Given the description of an element on the screen output the (x, y) to click on. 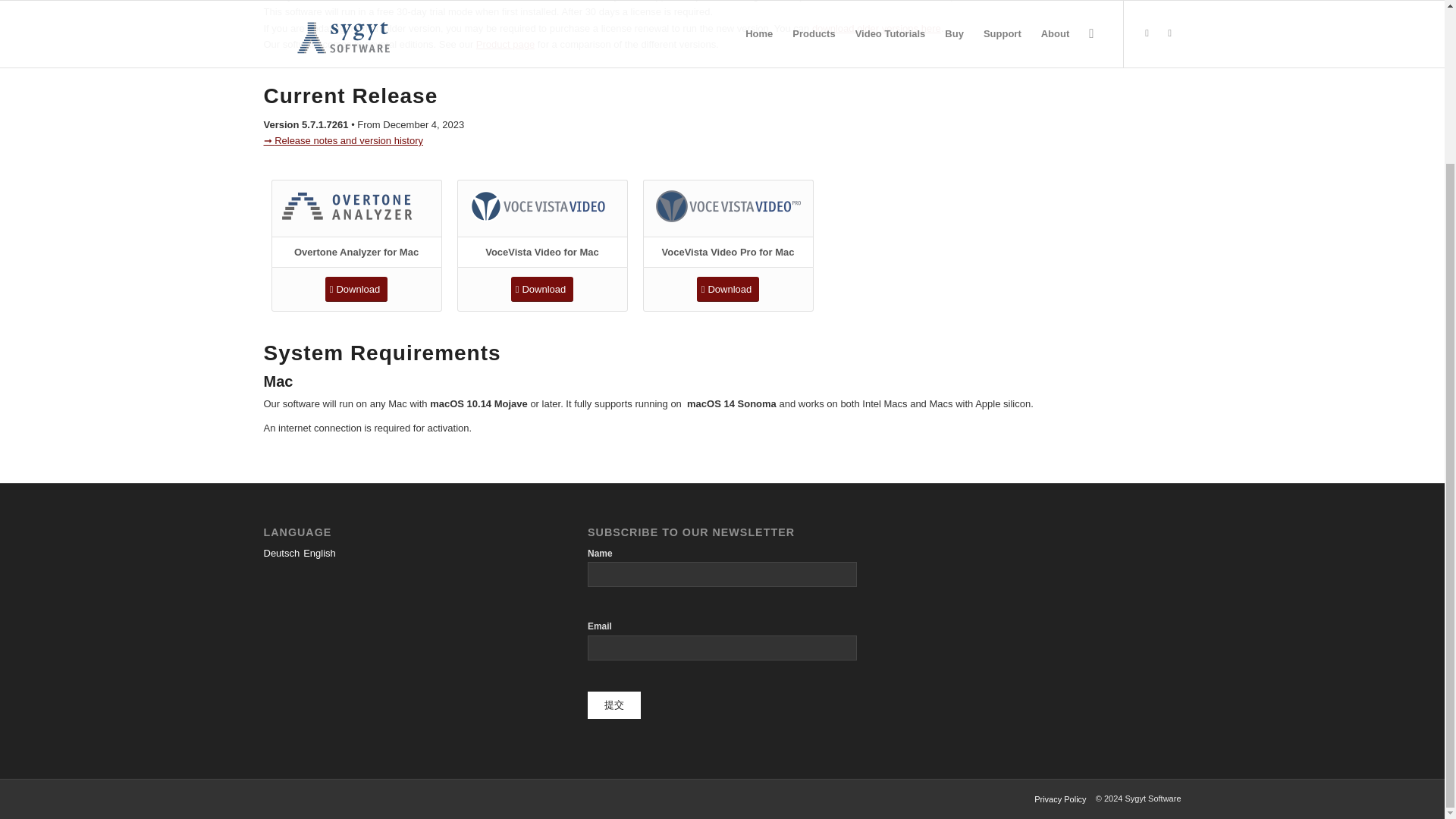
Download (356, 289)
Overtone Analyzer (355, 206)
Download (542, 289)
Download (728, 289)
VoceVista Video Pro (727, 206)
download older versions here (876, 28)
Release notes and version history (343, 140)
English (319, 552)
Privacy Policy (1059, 798)
VoceVista Video (542, 206)
Product page (505, 43)
Deutsch (281, 552)
